Given the description of an element on the screen output the (x, y) to click on. 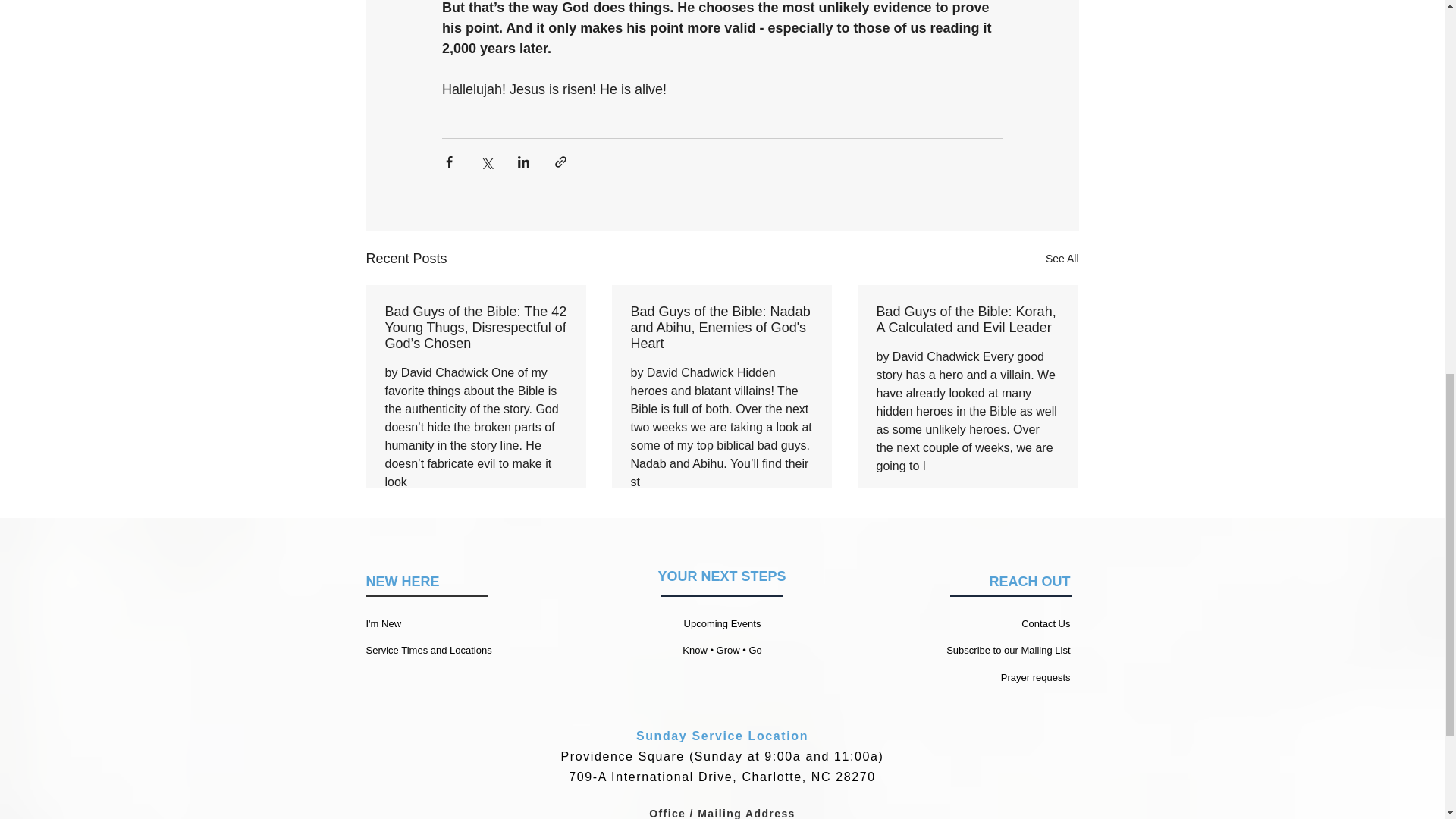
See All (1061, 259)
Upcoming Events (722, 623)
Bad Guys of the Bible: Korah, A Calculated and Evil Leader (967, 319)
Service Times and Locations (428, 650)
I'm New (383, 623)
